Given the description of an element on the screen output the (x, y) to click on. 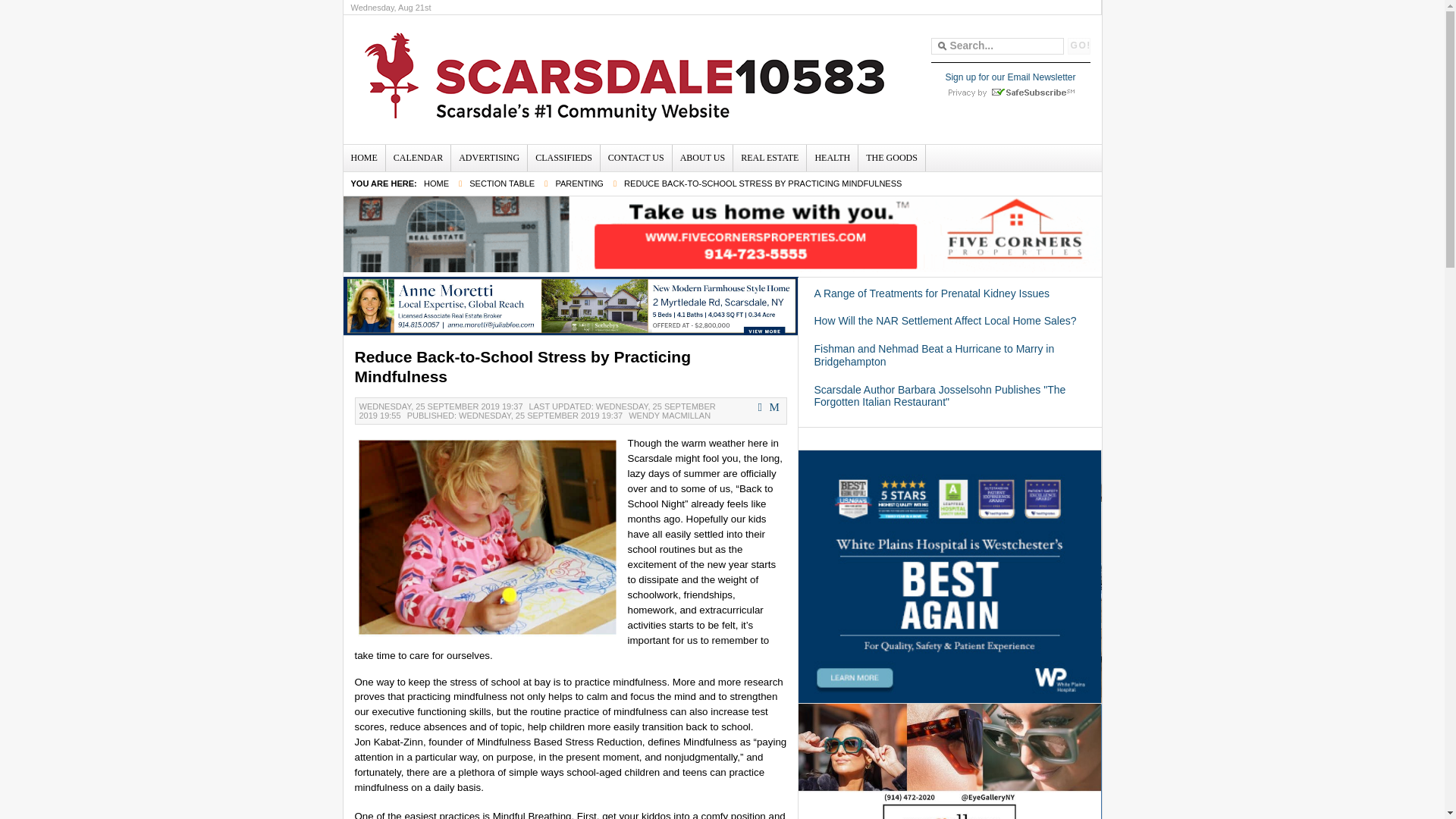
Five Corners (722, 233)
CALENDAR (417, 157)
REAL ESTATE (769, 157)
CLASSIFIEDS (563, 157)
HEALTH (831, 157)
SECTION TABLE (501, 183)
How Will the NAR Settlement Affect Local Home Sales? (945, 320)
THE GOODS (891, 157)
CONTACT US (635, 157)
